Given the description of an element on the screen output the (x, y) to click on. 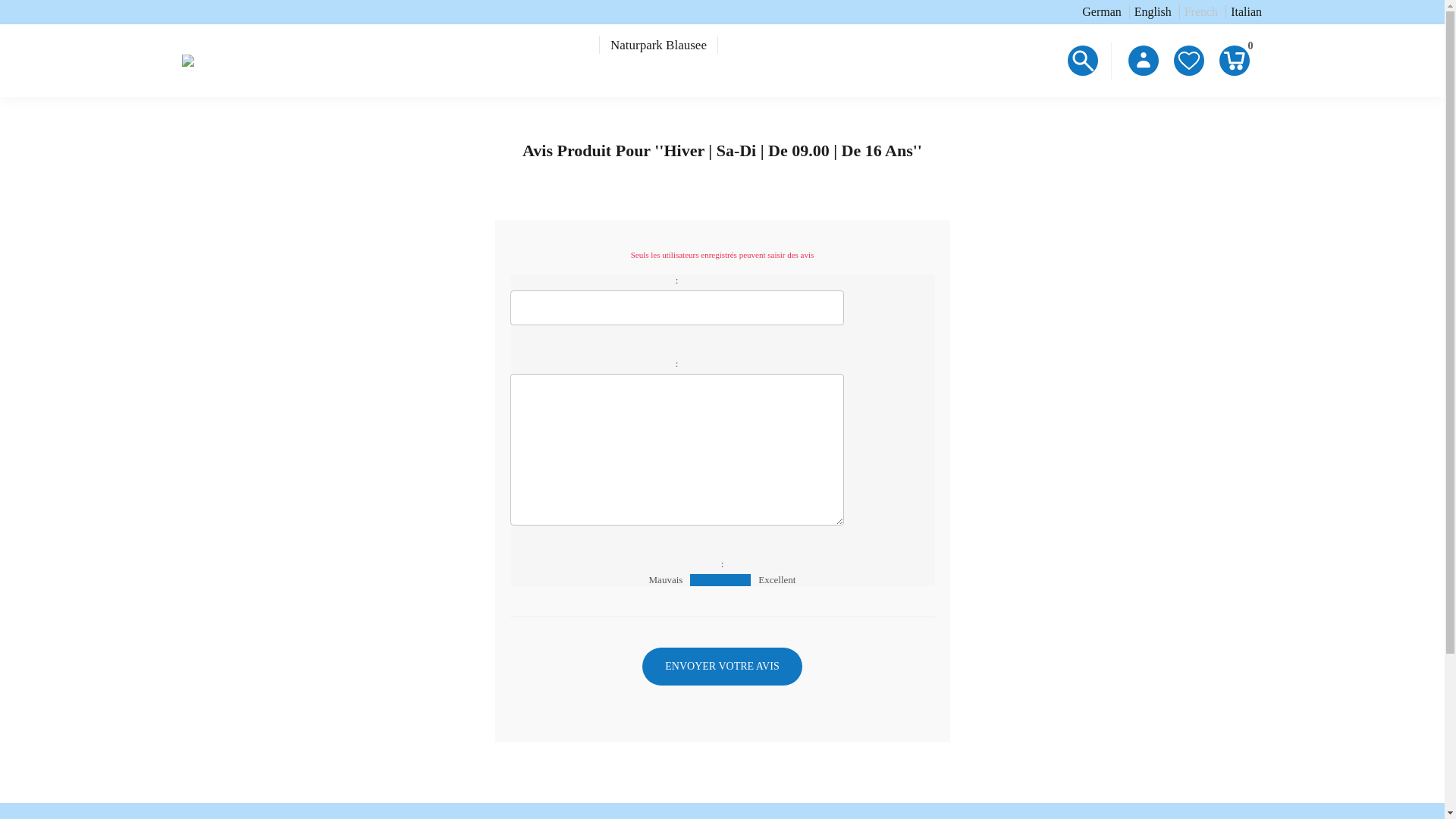
French Element type: text (1200, 11)
German Element type: text (1101, 11)
Envoyer votre avis Element type: text (721, 666)
Menu personnel Element type: text (1143, 60)
Blausee AG Element type: hover (188, 60)
Liste de souhaits Element type: text (1188, 60)
Panier
0 Element type: text (1234, 60)
Hiver | Sa-Di | De 09.00 | De 16 Ans Element type: text (788, 150)
Italian Element type: text (1245, 11)
English Element type: text (1152, 11)
Naturpark Blausee Element type: text (658, 45)
